Given the description of an element on the screen output the (x, y) to click on. 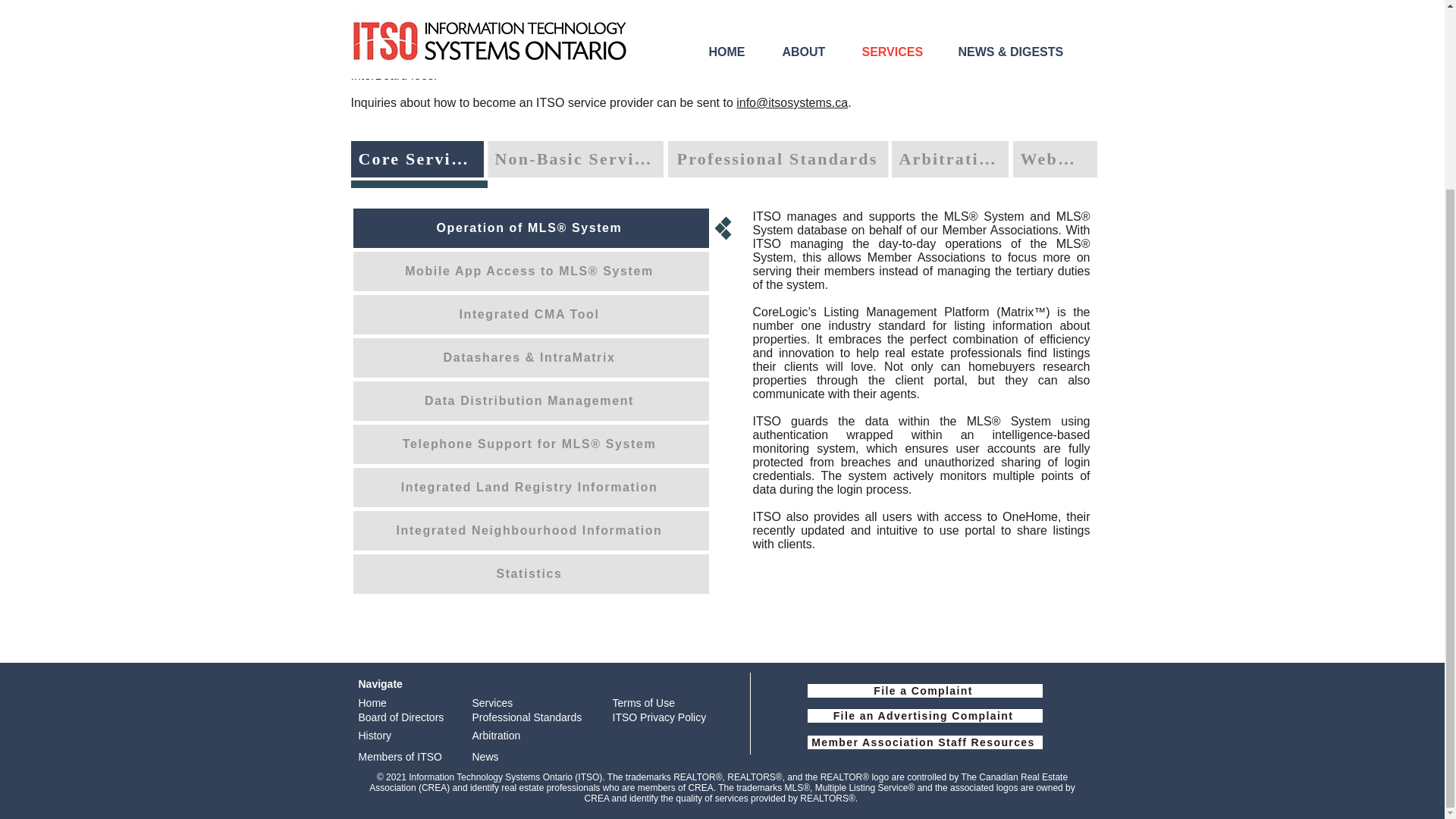
Arbitration (495, 735)
Statistics (531, 573)
File an Advertising Complaint (924, 715)
Non-Basic Services (574, 158)
Members of ITSO (399, 756)
Core Services (416, 158)
WebAPI (1055, 158)
ITSO Privacy Policy (659, 717)
Home (371, 702)
Data Distribution Management (531, 400)
